Given the description of an element on the screen output the (x, y) to click on. 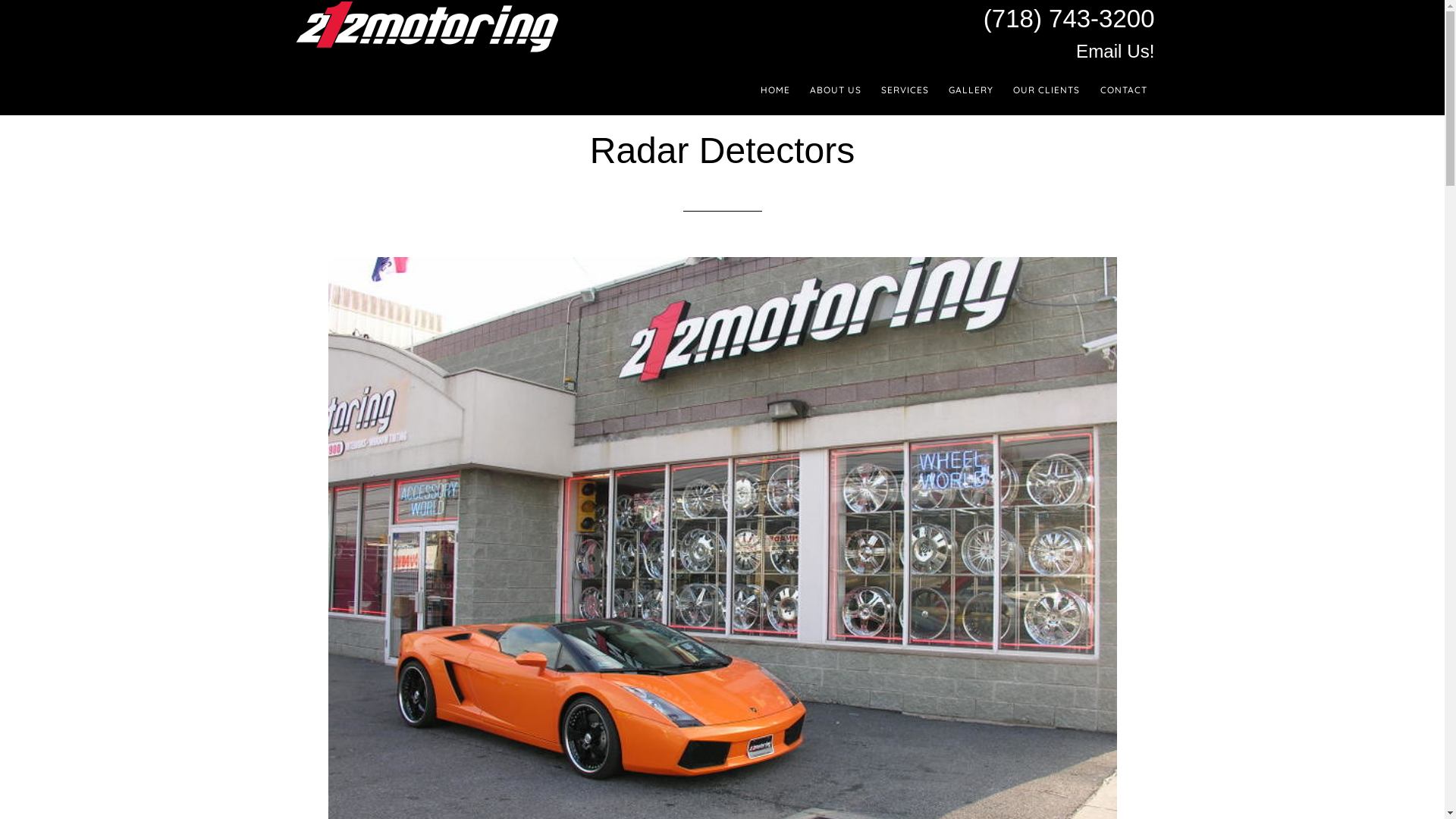
OUR CLIENTS Element type: text (1046, 90)
(718) 743-3200 Element type: text (1068, 18)
Skip to main content Element type: text (0, 0)
HOME Element type: text (775, 90)
Email Us! Element type: text (1115, 50)
ABOUT US Element type: text (835, 90)
GALLERY Element type: text (971, 90)
SERVICES Element type: text (904, 90)
212 MOTORING Element type: text (425, 26)
CONTACT Element type: text (1123, 90)
